Given the description of an element on the screen output the (x, y) to click on. 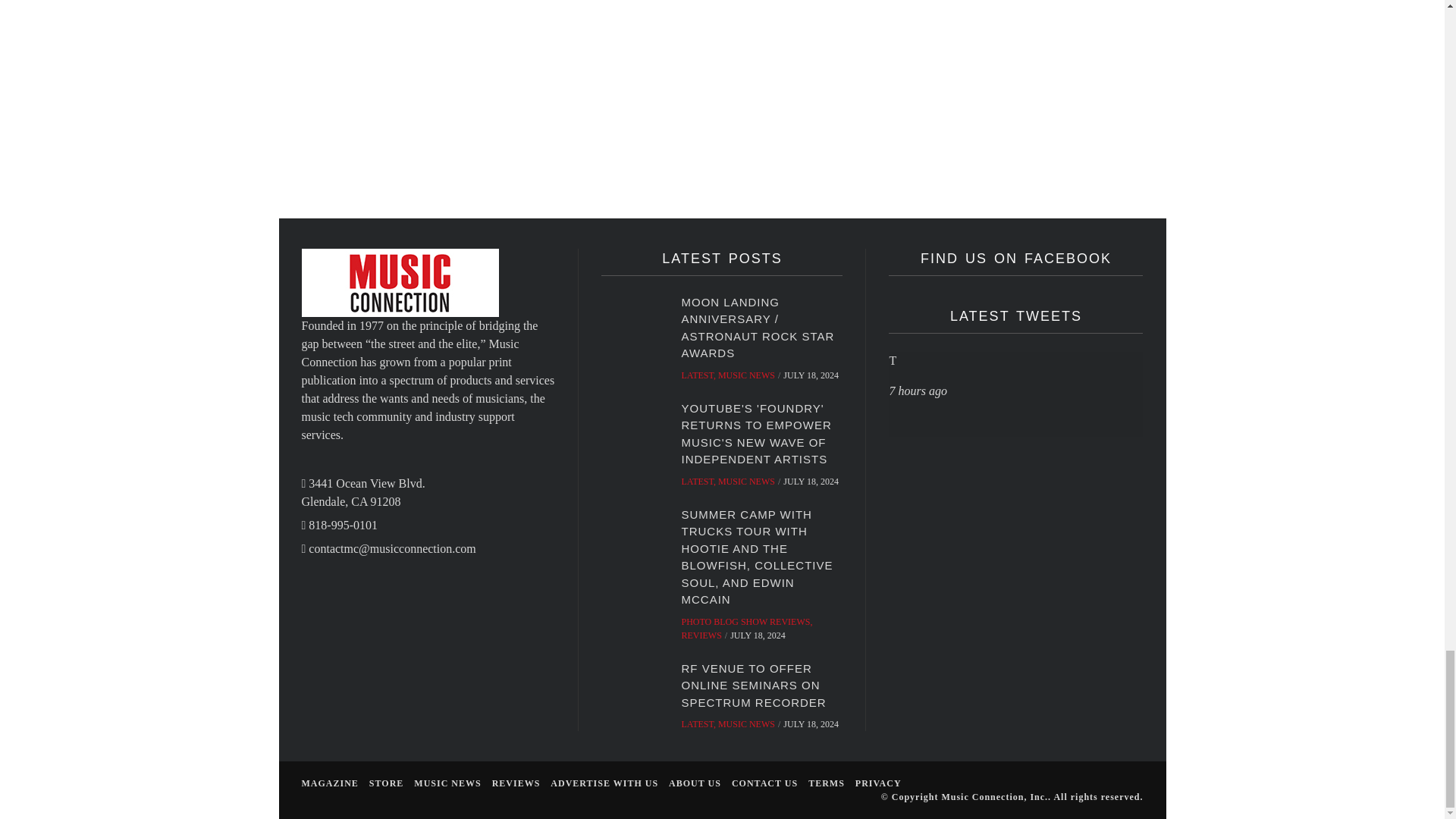
3rd party ad content (453, 146)
3rd party ad content (1002, 43)
3rd party ad content (884, 146)
